Given the description of an element on the screen output the (x, y) to click on. 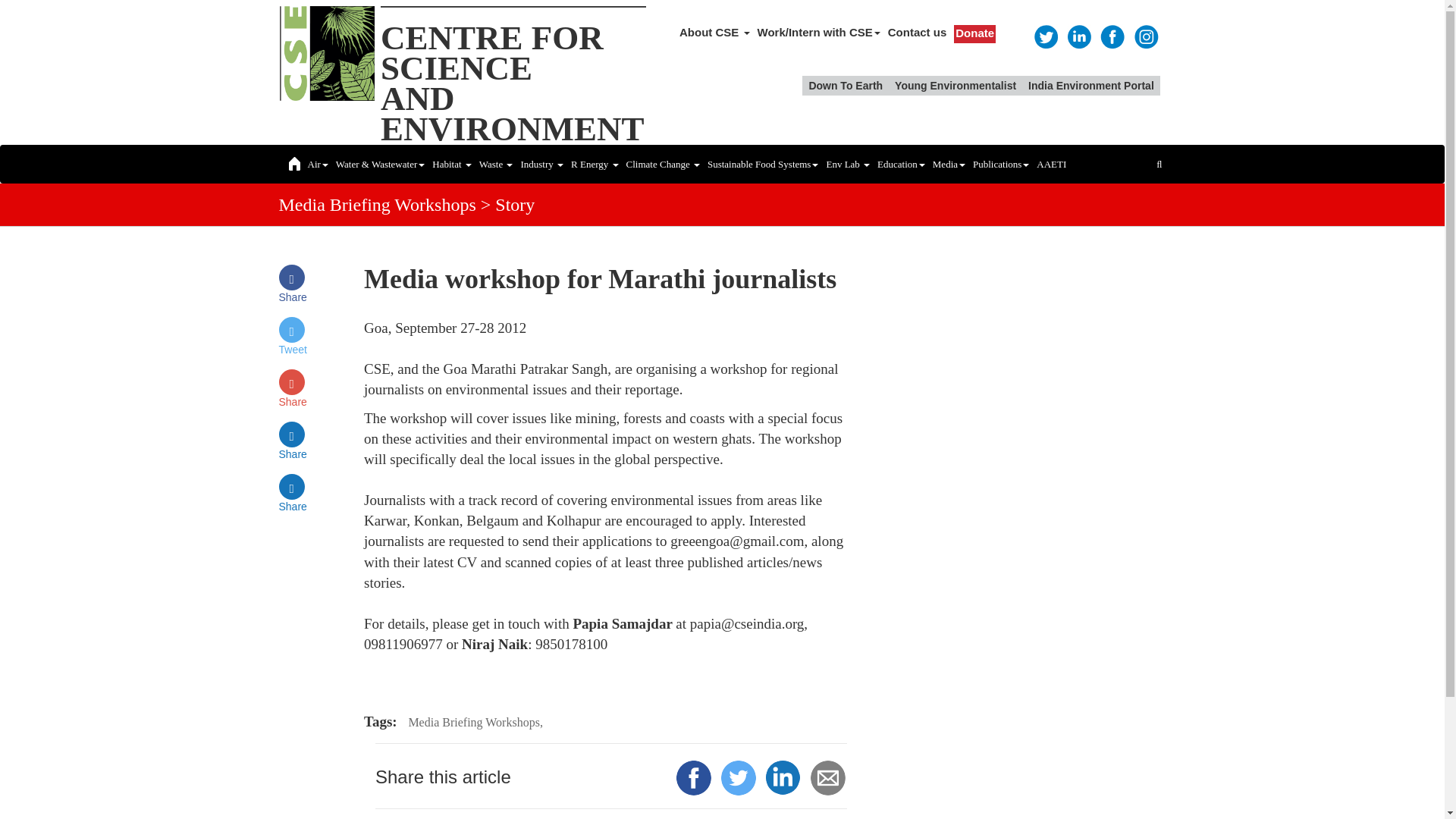
Down To Earth (845, 85)
Instagram (1145, 35)
Linkedin (1078, 35)
Donate (974, 33)
Facebook (1111, 35)
Contact us (916, 32)
About CSE (714, 32)
Young Environmentalist (954, 85)
Air (316, 164)
Twitter (512, 83)
India Environment Portal (1045, 35)
